Given the description of an element on the screen output the (x, y) to click on. 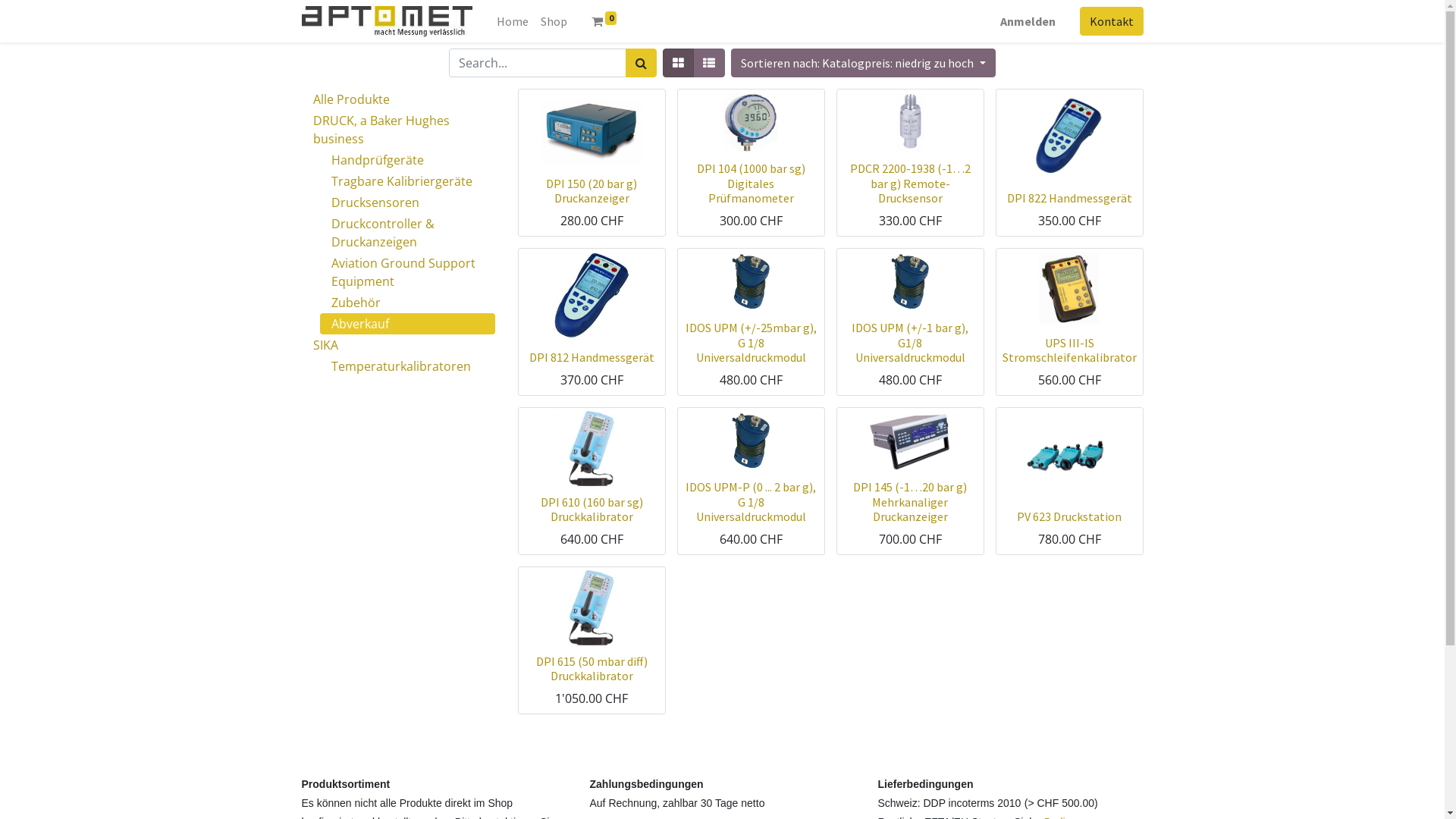
Anmelden Element type: text (1026, 21)
APTOMET Shop Element type: hover (386, 21)
0 Element type: text (604, 21)
Home Element type: text (512, 21)
IDOS UPM (+/-25mbar g), G 1/8 Universaldruckmodul Element type: text (750, 342)
IDOS UPM (+/-1 bar g), G1/8 Universaldruckmodul Element type: text (909, 342)
Drucksensoren Element type: text (407, 202)
Druckcontroller & Druckanzeigen Element type: text (407, 232)
PV 623 Druckstation Element type: text (1068, 516)
Abverkauf Element type: text (407, 323)
SIKA Element type: text (398, 344)
DRUCK, a Baker Hughes business Element type: text (398, 129)
DPI 150 (20 bar g) Druckanzeiger Element type: text (591, 190)
Alle Produkte Element type: text (398, 98)
UPS III-IS Stromschleifenkalibrator Element type: text (1069, 349)
DPI 610 (160 bar sg) Druckkalibrator Element type: text (590, 509)
Gitter Element type: hover (677, 62)
Liste Element type: hover (708, 62)
IDOS UPM-P (0 ... 2 bar g), G 1/8 Universaldruckmodul Element type: text (750, 501)
Kontakt Element type: text (1111, 20)
Shop Element type: text (553, 21)
Temperaturkalibratoren Element type: text (407, 365)
Suchen Element type: hover (640, 62)
Aviation Ground Support Equipment Element type: text (407, 271)
DPI 615 (50 mbar diff) Druckkalibrator Element type: text (590, 668)
Sortieren nach: Katalogpreis: niedrig zu hoch Element type: text (862, 62)
